Given the description of an element on the screen output the (x, y) to click on. 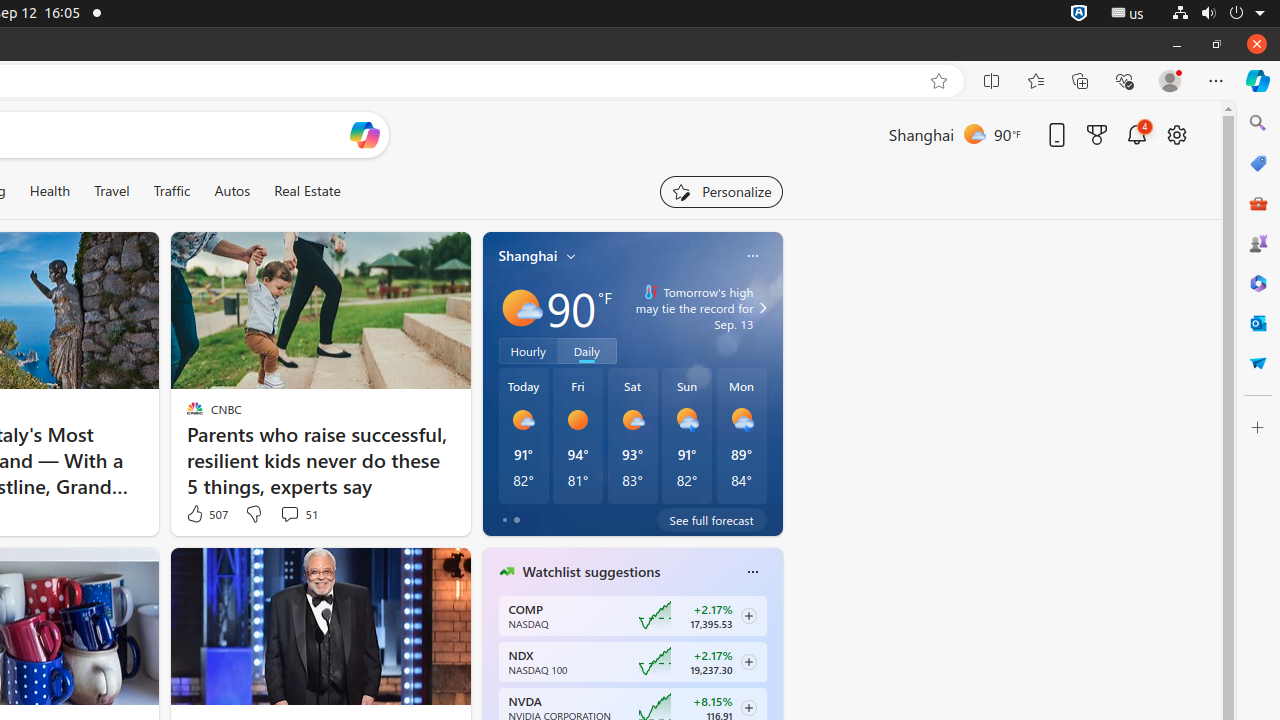
Click to open the link to download the Microsoft Start mobile app Element type: push-button (1057, 134)
Tools Element type: push-button (1258, 202)
Microsoft Shopping Element type: push-button (1258, 163)
Weather forecast Today High temperature 91° Low temperature 82° Element type: link (523, 435)
Microsoft 365 Element type: push-button (1258, 283)
